Given the description of an element on the screen output the (x, y) to click on. 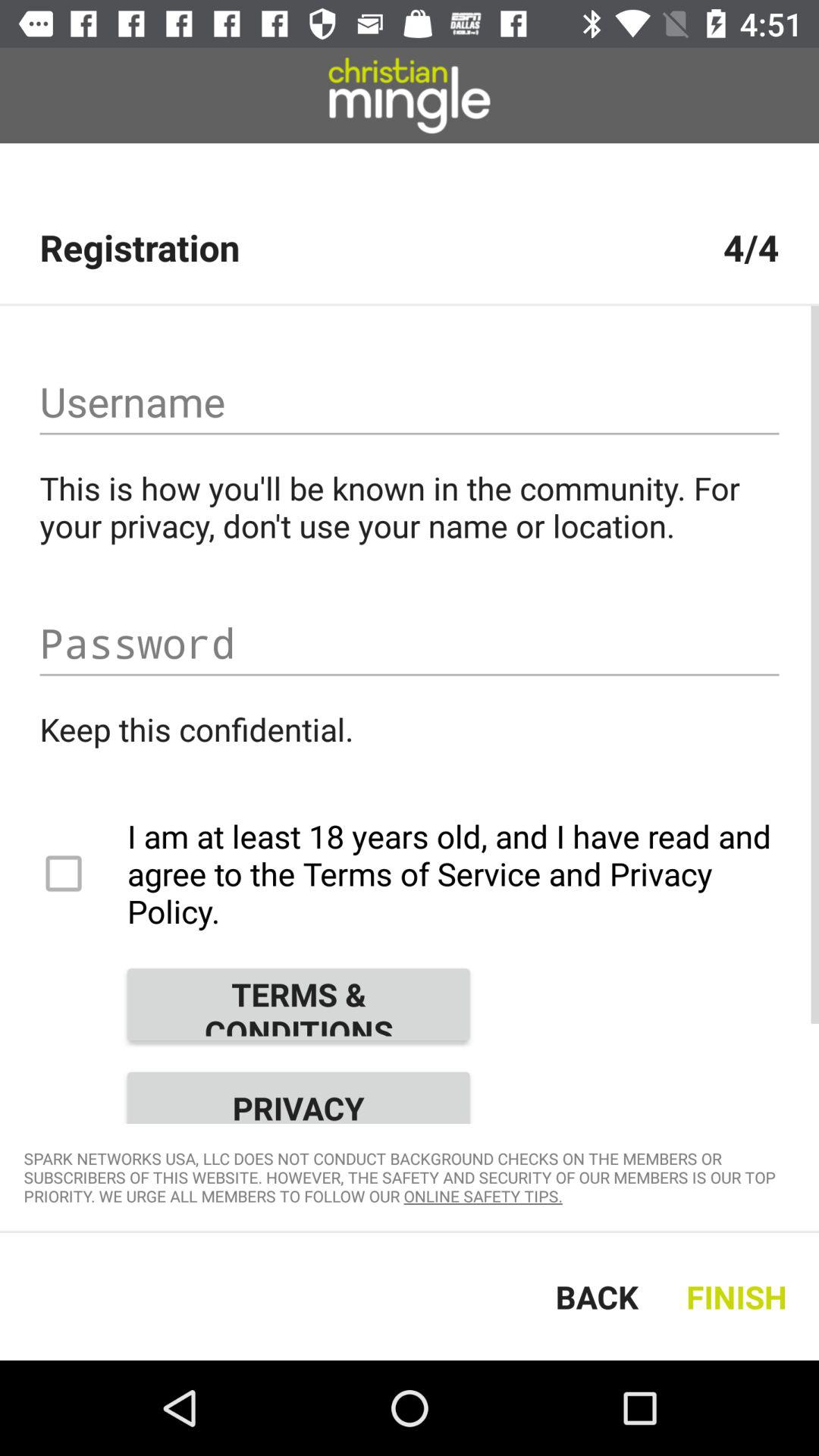
tap the terms & conditions (298, 1004)
